Given the description of an element on the screen output the (x, y) to click on. 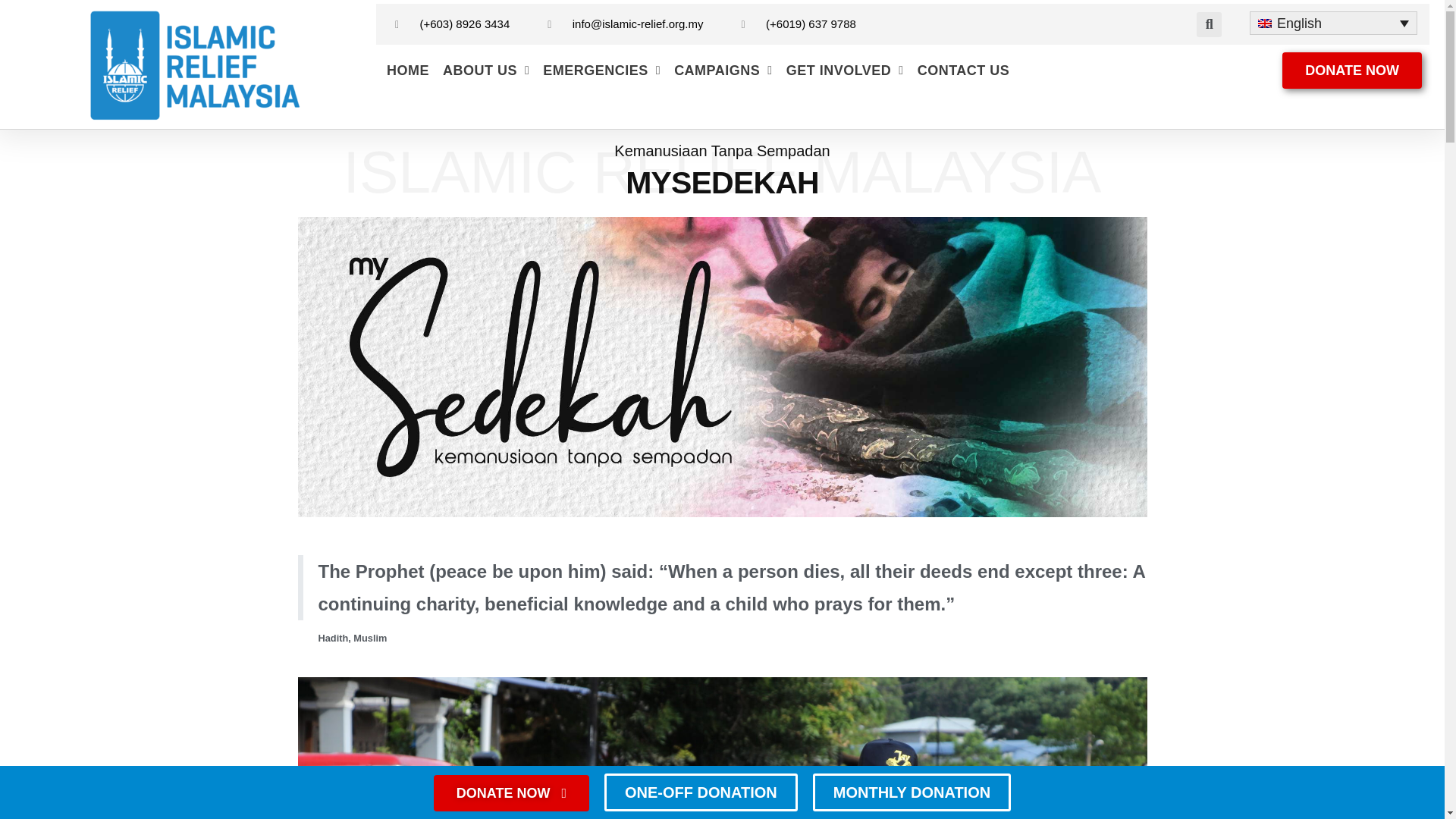
ABOUT US (485, 70)
EMERGENCIES (600, 70)
CAMPAIGNS (722, 70)
English (1333, 23)
HOME (407, 70)
